Given the description of an element on the screen output the (x, y) to click on. 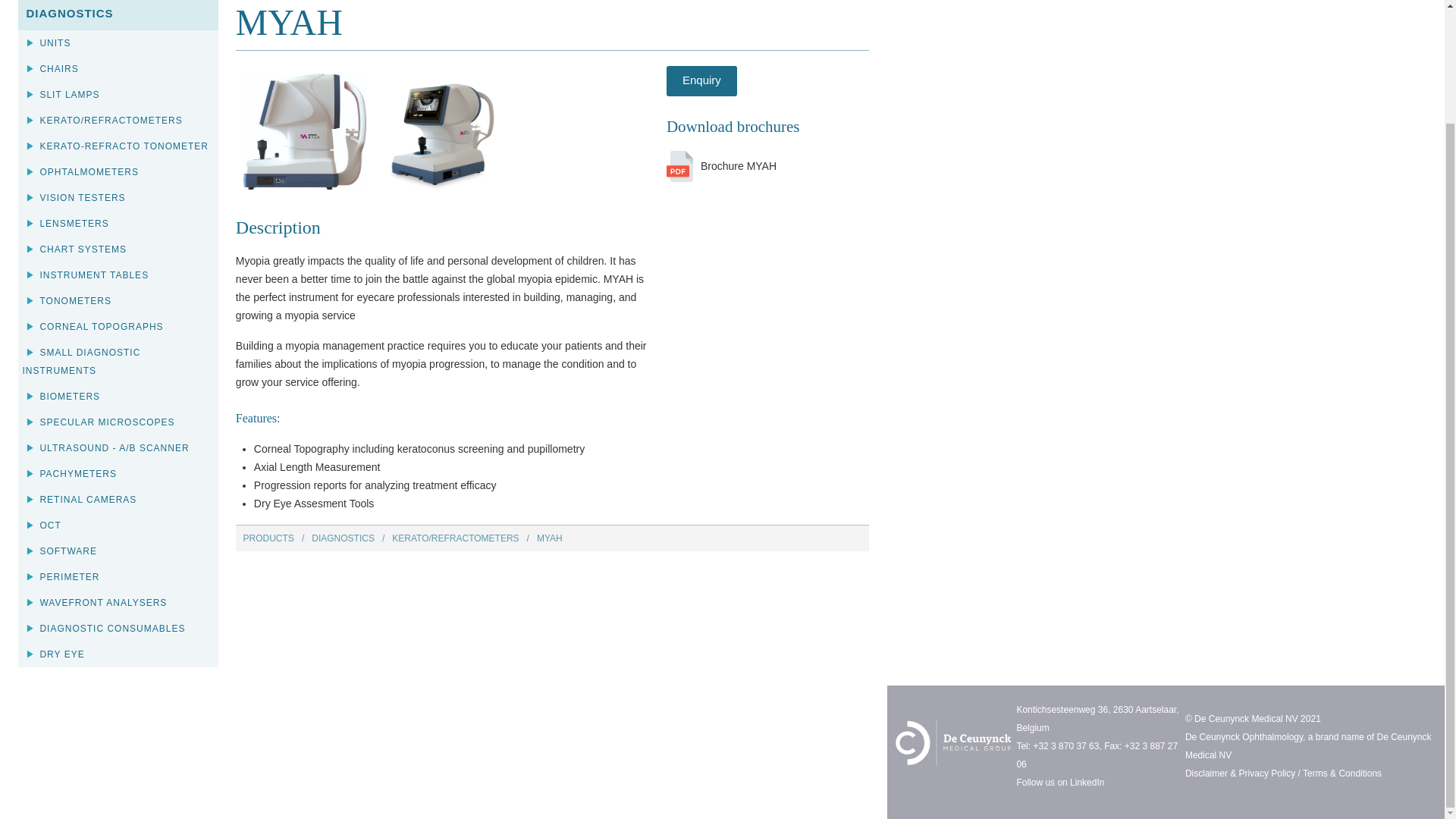
SMALL DIAGNOSTIC INSTRUMENTS (116, 361)
PACHYMETERS (116, 473)
CHAIRS (116, 68)
VISION TESTERS (116, 197)
LENSMETERS (116, 223)
INSTRUMENT TABLES (116, 275)
WAVEFRONT ANALYSERS (116, 602)
CORNEAL TOPOGRAPHS (116, 326)
OCT (116, 525)
DIAGNOSTICS (342, 538)
